Given the description of an element on the screen output the (x, y) to click on. 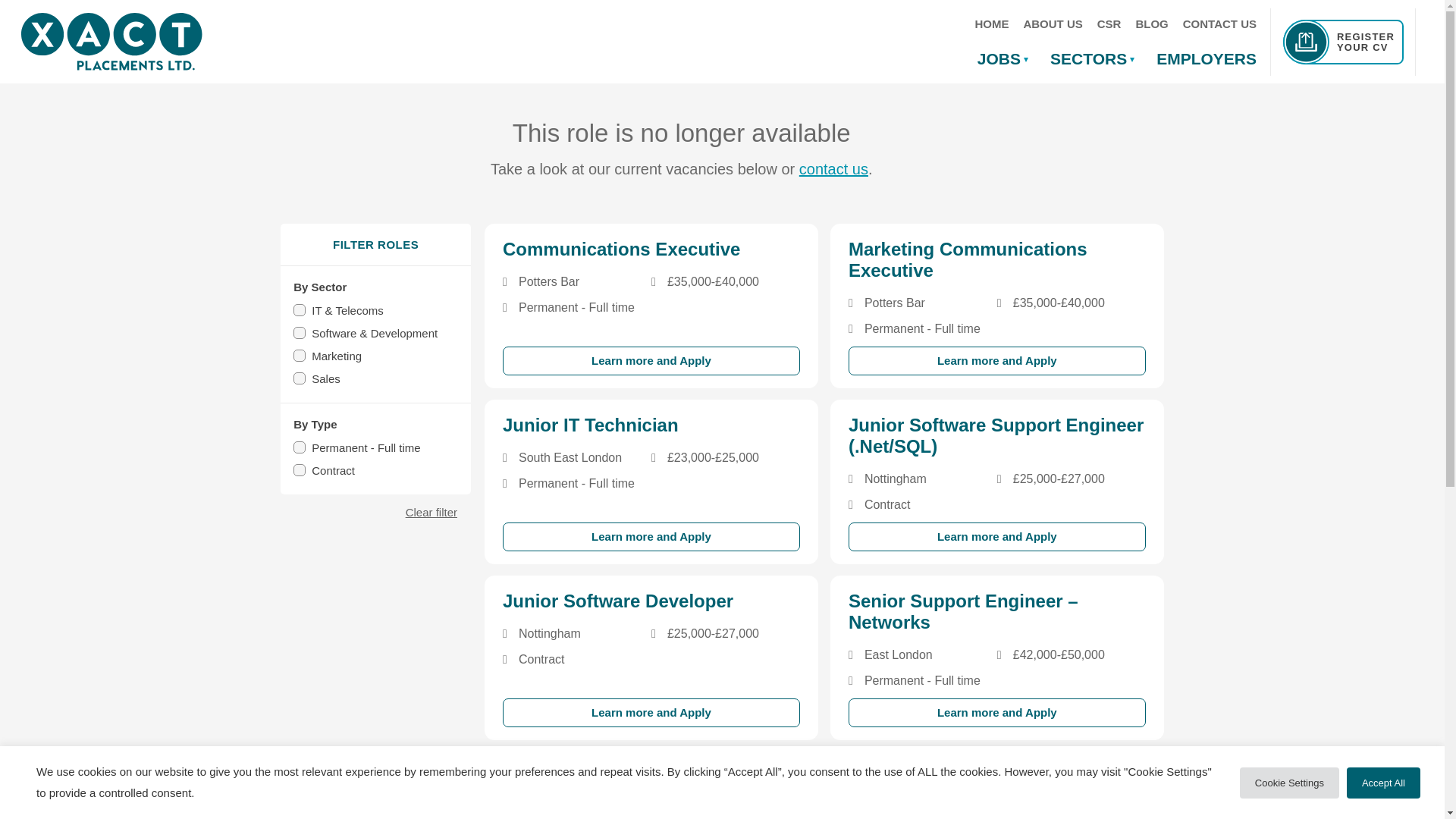
BLOG (1151, 23)
HOME (991, 23)
CONTACT US (1219, 23)
CSR (1108, 23)
JOBS (1002, 61)
Go to homepage (111, 41)
ABOUT US (1051, 23)
REGISTER YOUR CV (1342, 42)
EMPLOYERS (1206, 61)
SECTORS (1091, 61)
